Given the description of an element on the screen output the (x, y) to click on. 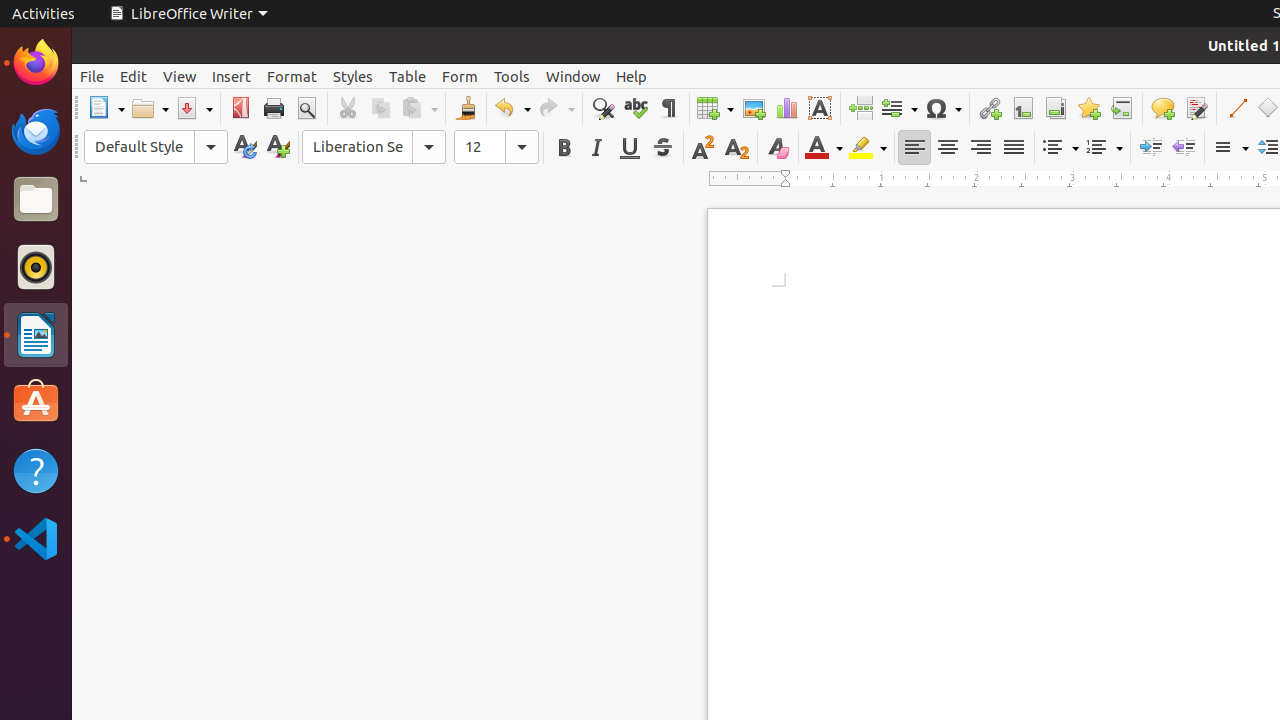
Bookmark Element type: push-button (1088, 108)
Underline Element type: push-button (629, 147)
Line Element type: toggle-button (1236, 108)
Undo Element type: push-button (512, 108)
PDF Element type: push-button (240, 108)
